Given the description of an element on the screen output the (x, y) to click on. 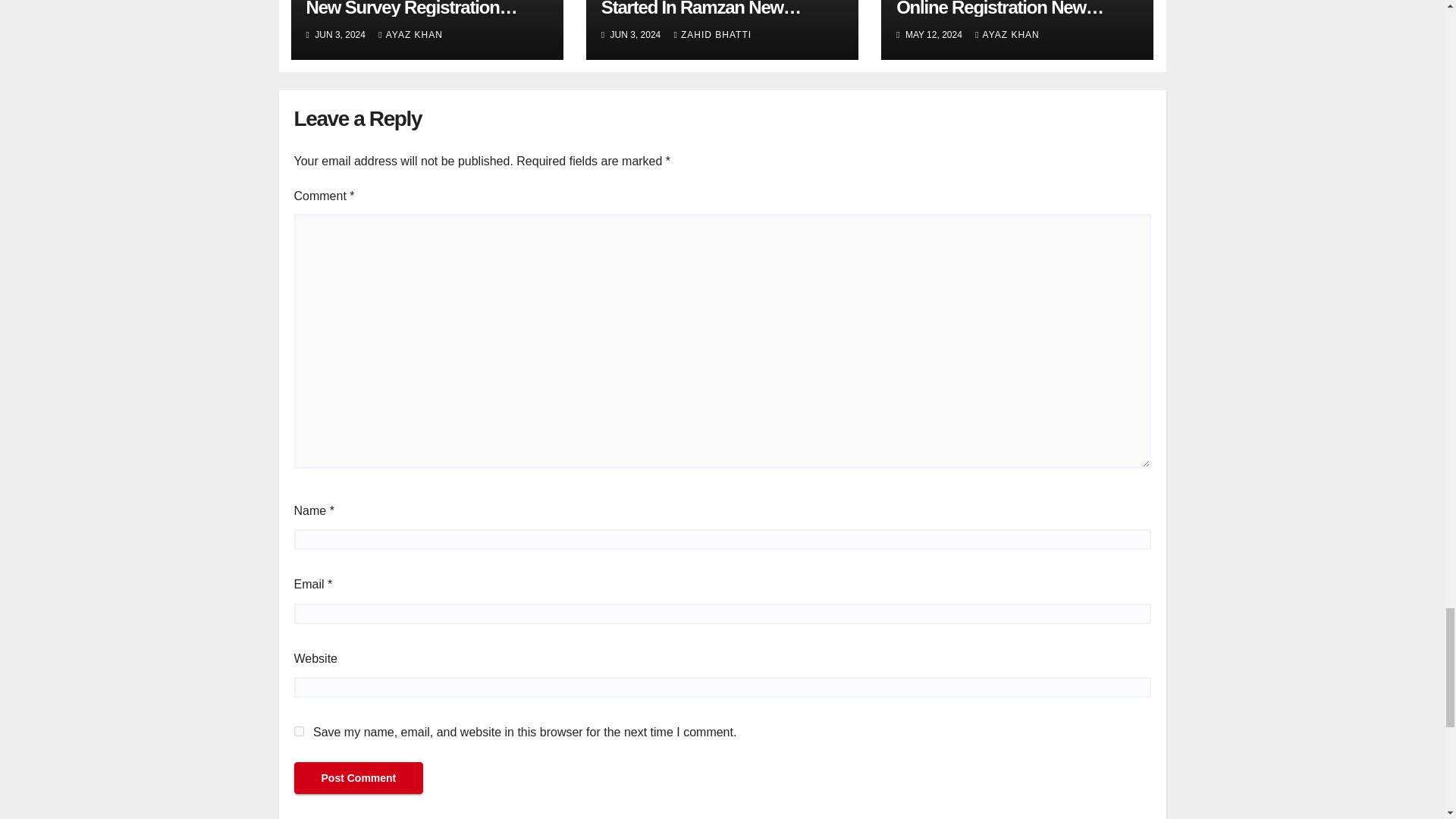
Post Comment (358, 777)
yes (299, 731)
